Given the description of an element on the screen output the (x, y) to click on. 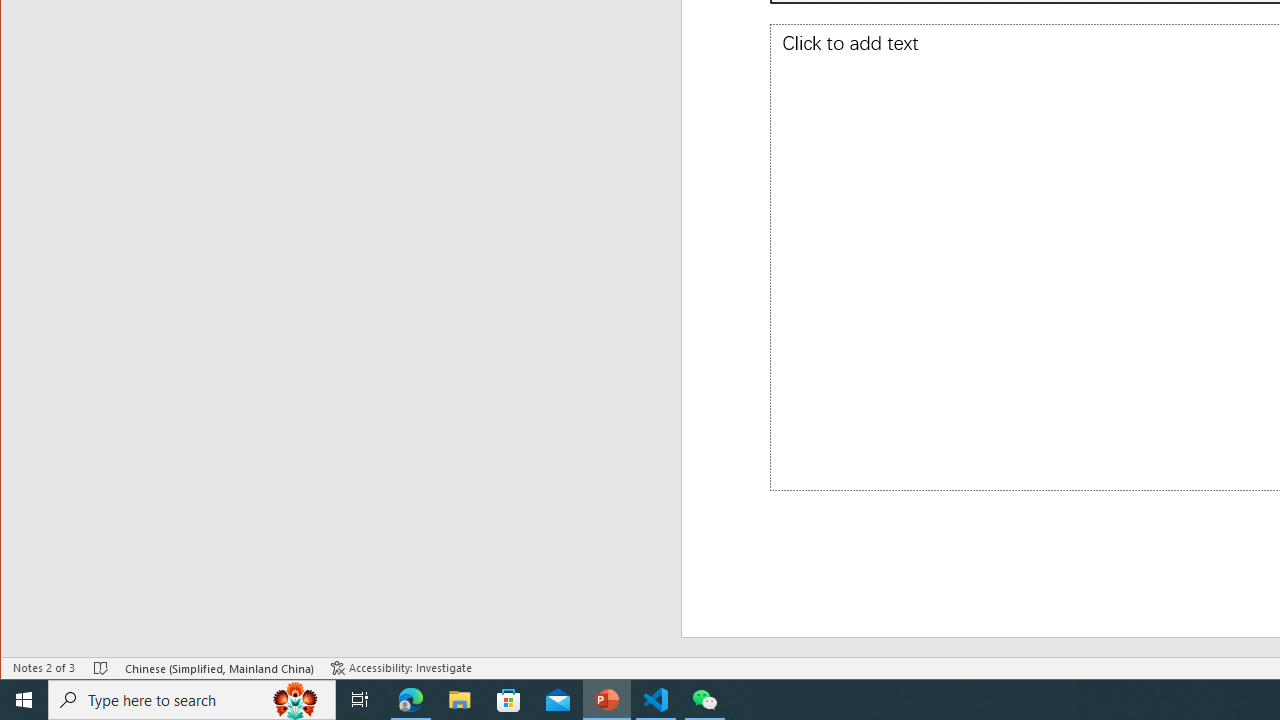
Search highlights icon opens search home window (295, 699)
Visual Studio Code - 1 running window (656, 699)
Start (24, 699)
Microsoft Store (509, 699)
WeChat - 1 running window (704, 699)
Task View (359, 699)
Type here to search (191, 699)
Microsoft Edge - 1 running window (411, 699)
PowerPoint - 1 running window (607, 699)
File Explorer (460, 699)
